Given the description of an element on the screen output the (x, y) to click on. 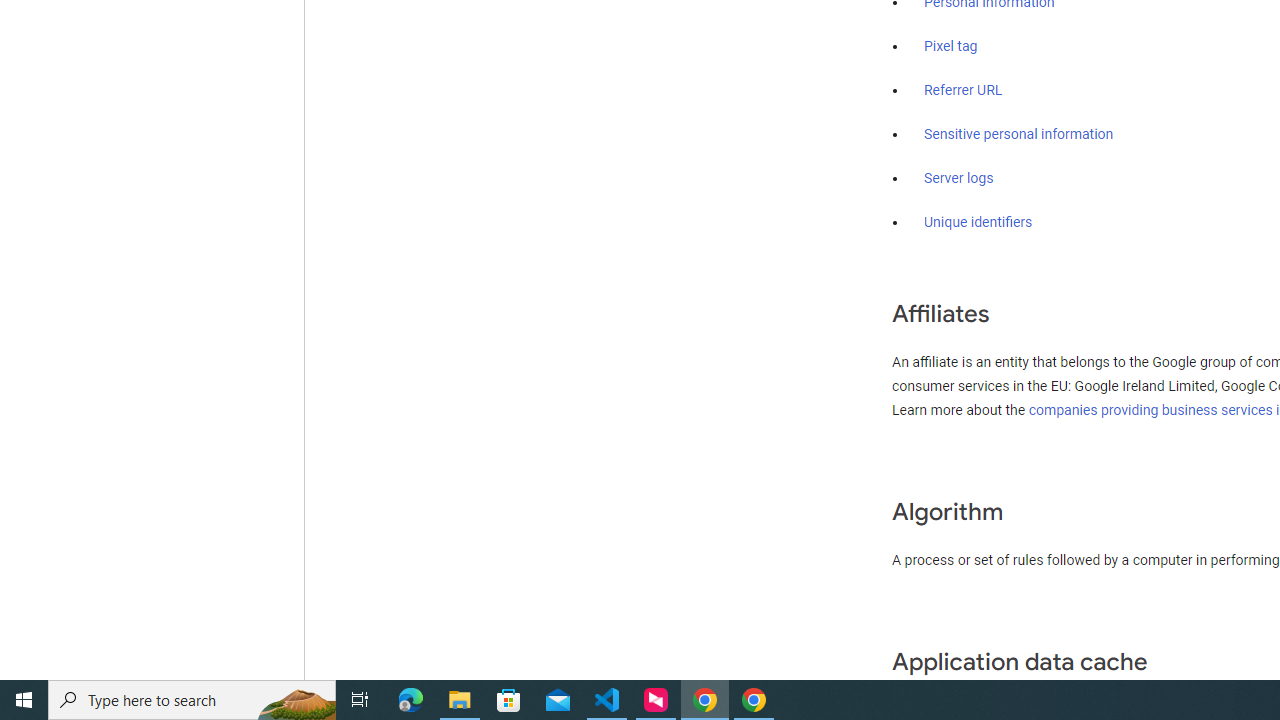
Unique identifiers (978, 222)
Server logs (959, 178)
Sensitive personal information (1018, 134)
Pixel tag (950, 47)
Referrer URL (963, 91)
